Given the description of an element on the screen output the (x, y) to click on. 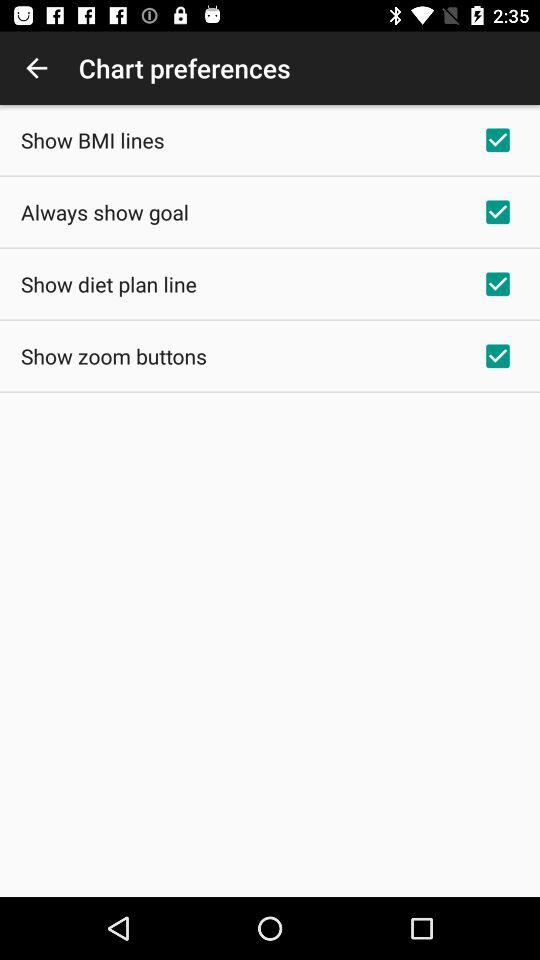
click the item above show zoom buttons icon (108, 284)
